Given the description of an element on the screen output the (x, y) to click on. 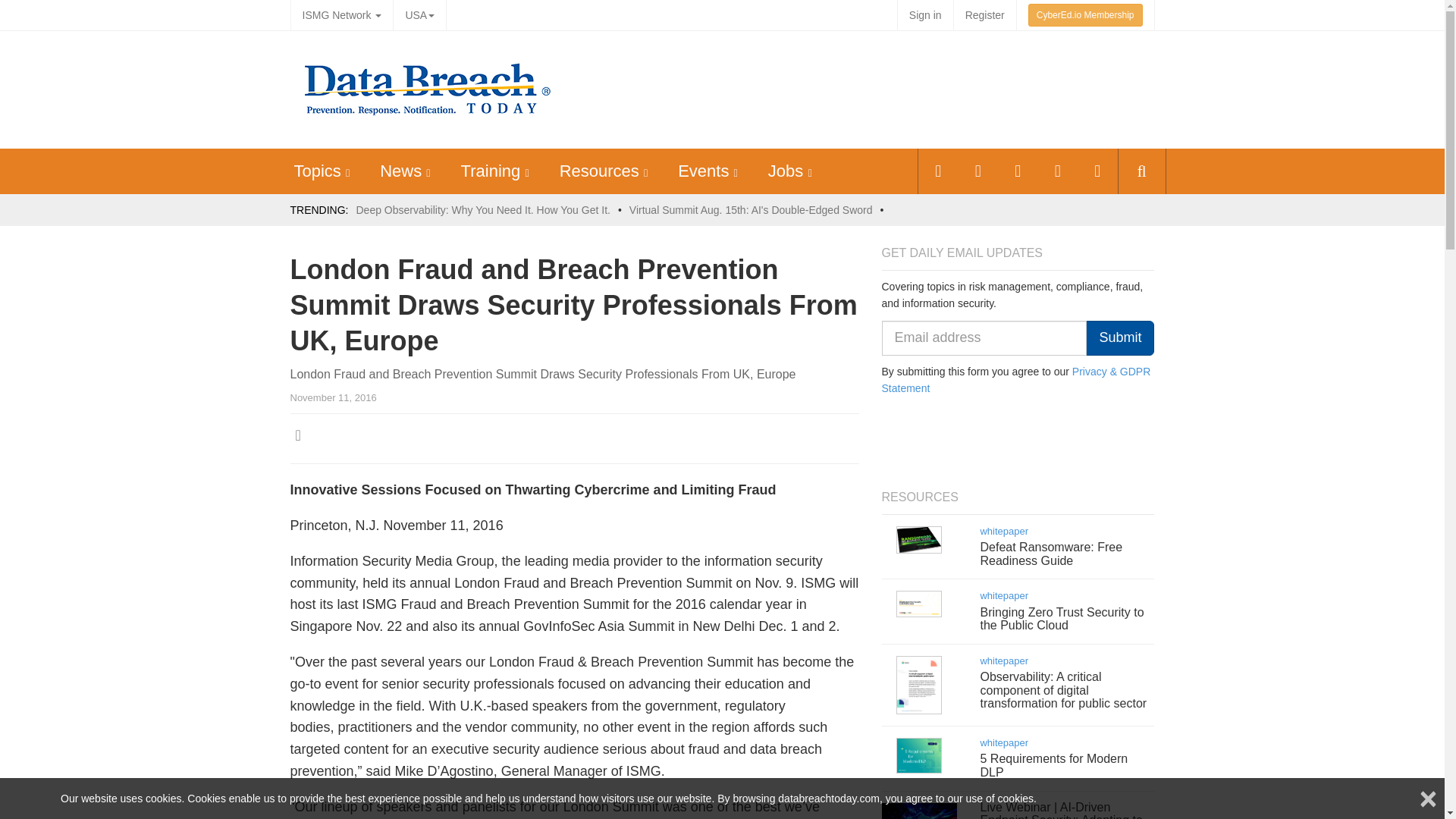
Topics (317, 170)
USA (418, 15)
Register (984, 15)
CyberEd.io Membership (1084, 15)
Sign in (925, 15)
ISMG Network (341, 15)
